Given the description of an element on the screen output the (x, y) to click on. 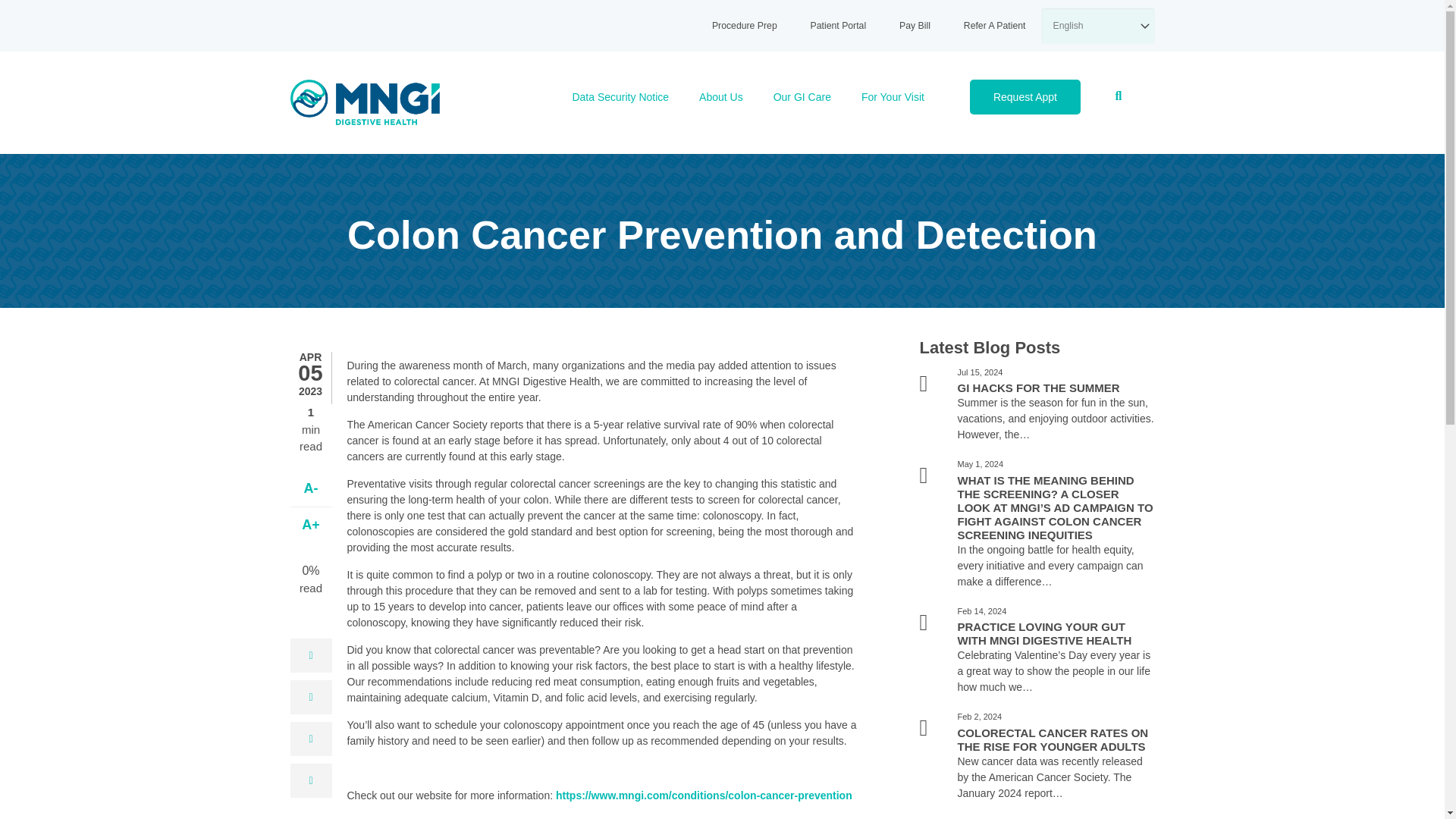
Home (364, 101)
